Given the description of an element on the screen output the (x, y) to click on. 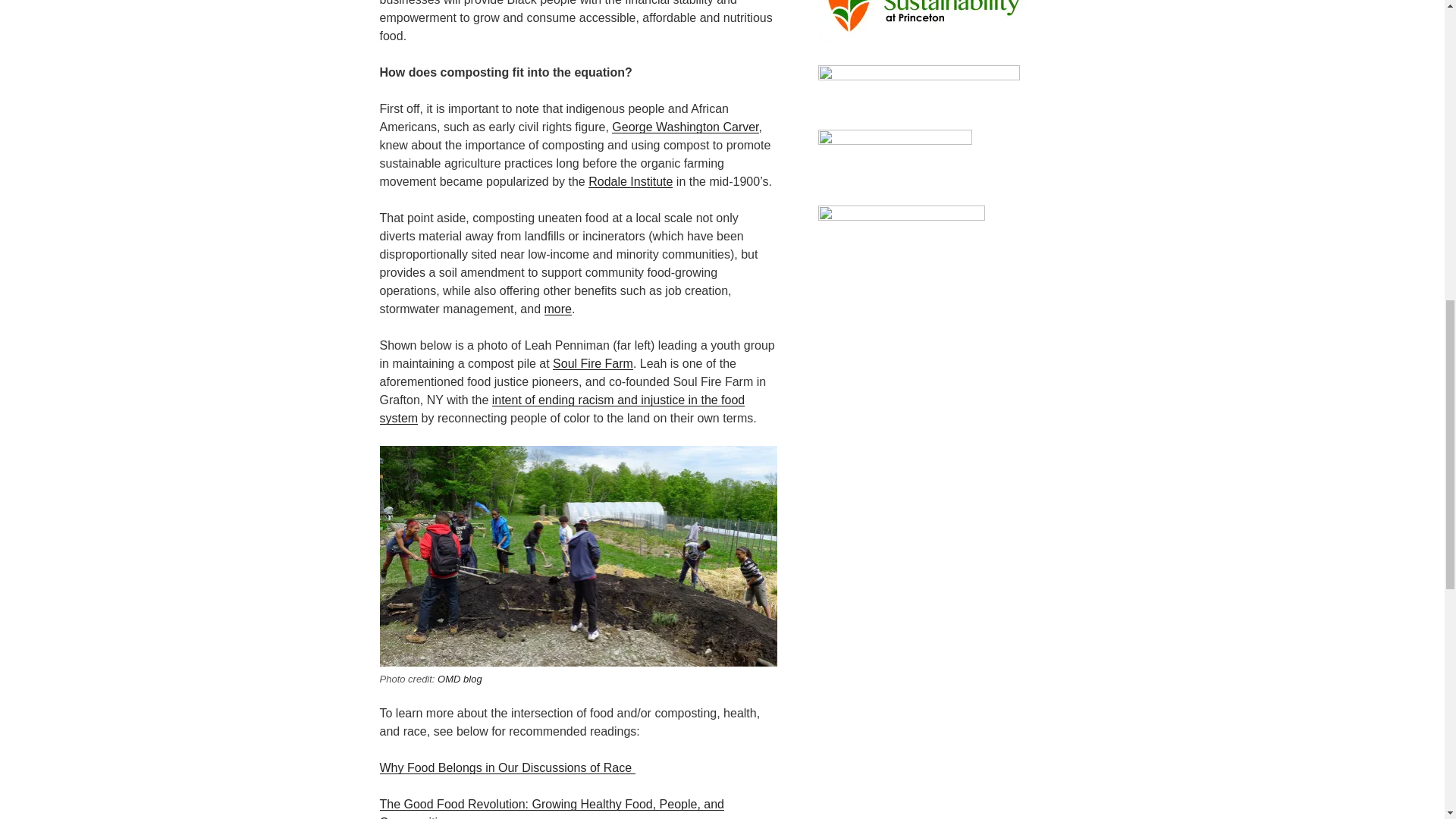
intent of ending racism and injustice in the food system (561, 409)
OMD blog (459, 678)
Rodale Institute (630, 181)
more (558, 308)
Soul Fire Farm (593, 363)
Why Food Belongs in Our Discussions of Race  (506, 767)
George Washington Carver (684, 126)
